Given the description of an element on the screen output the (x, y) to click on. 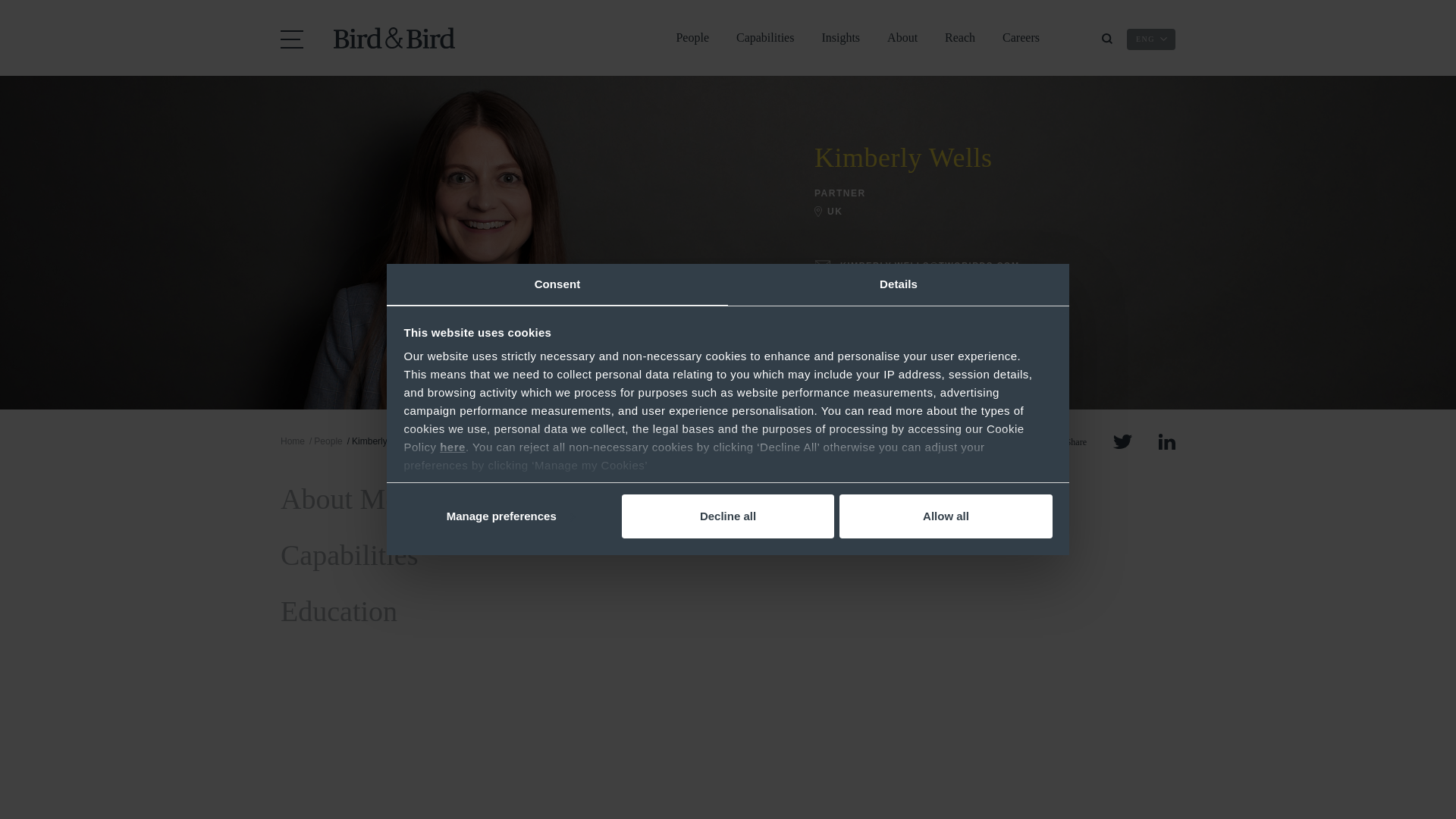
Consent (557, 284)
Details (898, 284)
here (452, 446)
